Given the description of an element on the screen output the (x, y) to click on. 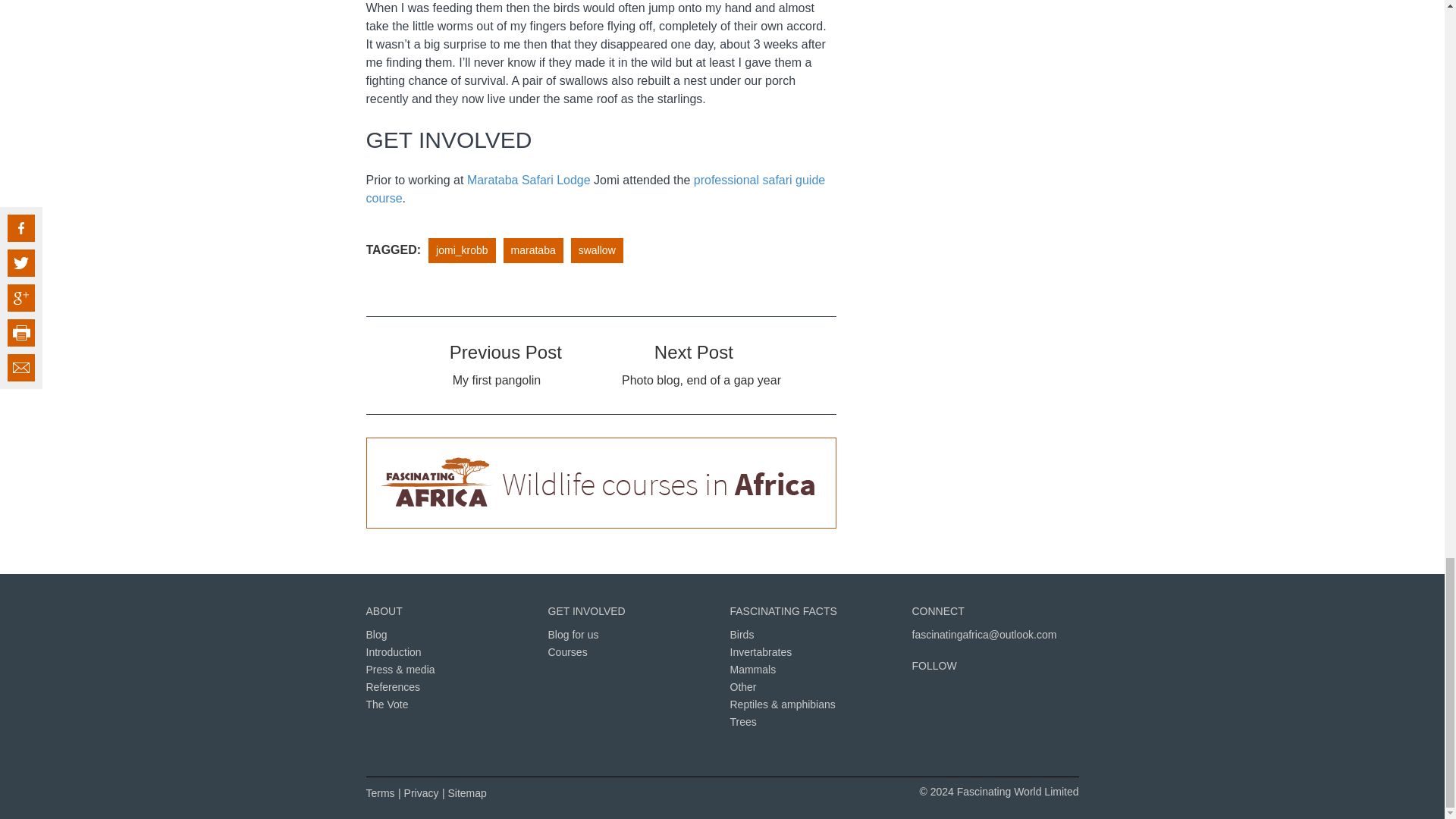
Blog (376, 634)
ABOUT (383, 610)
professional safari guide course (595, 188)
Marataba Safari Lodge (529, 179)
marataba (533, 250)
swallow (596, 250)
